Given the description of an element on the screen output the (x, y) to click on. 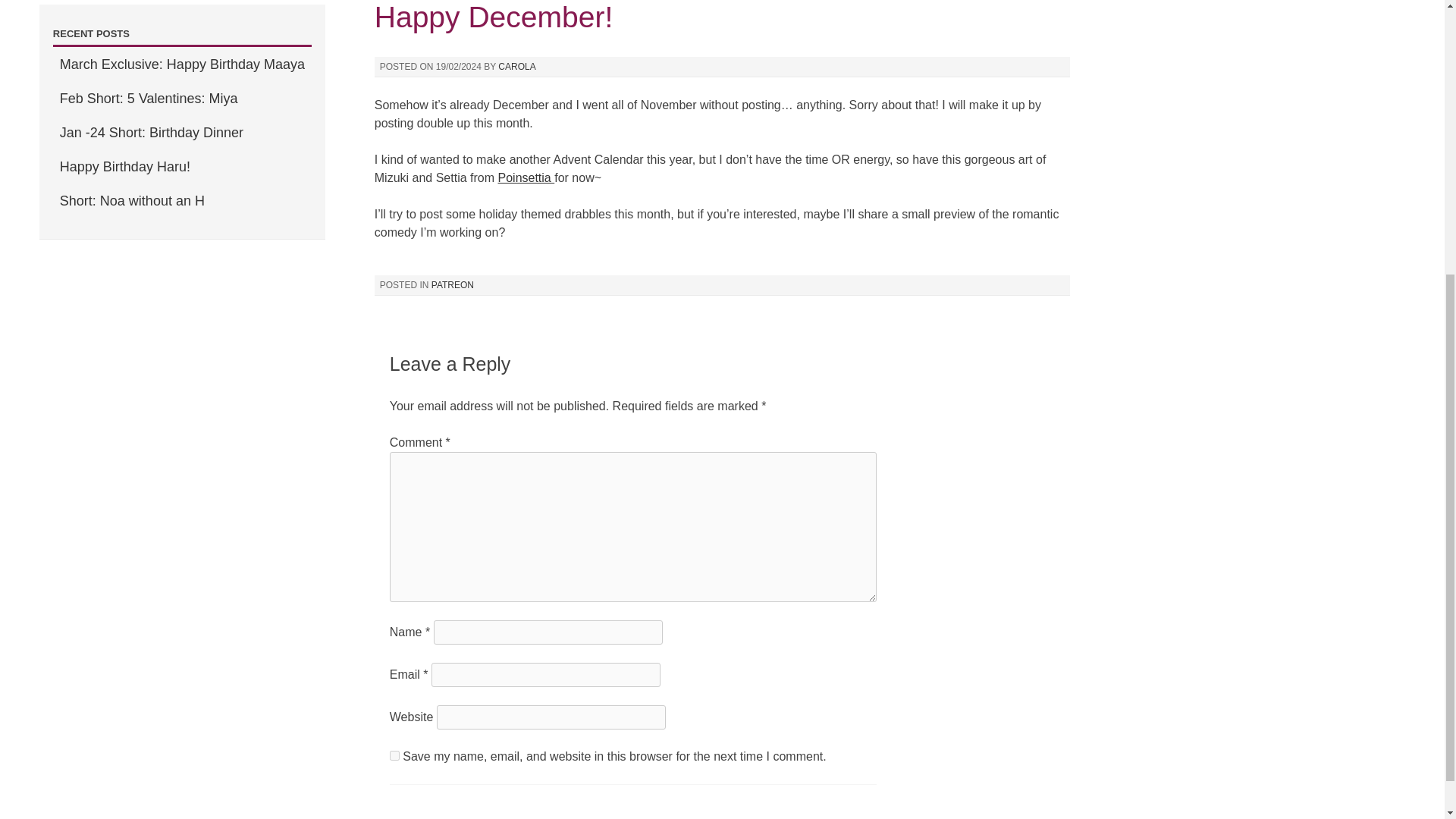
Jan -24 Short: Birthday Dinner (151, 132)
CAROLA (516, 66)
PATREON (452, 285)
March Exclusive: Happy Birthday Maaya (181, 64)
Happy Birthday Haru! (124, 166)
Feb Short: 5 Valentines: Miya (148, 98)
Poinsettia (525, 177)
Short: Noa without an H (132, 200)
yes (394, 755)
